Given the description of an element on the screen output the (x, y) to click on. 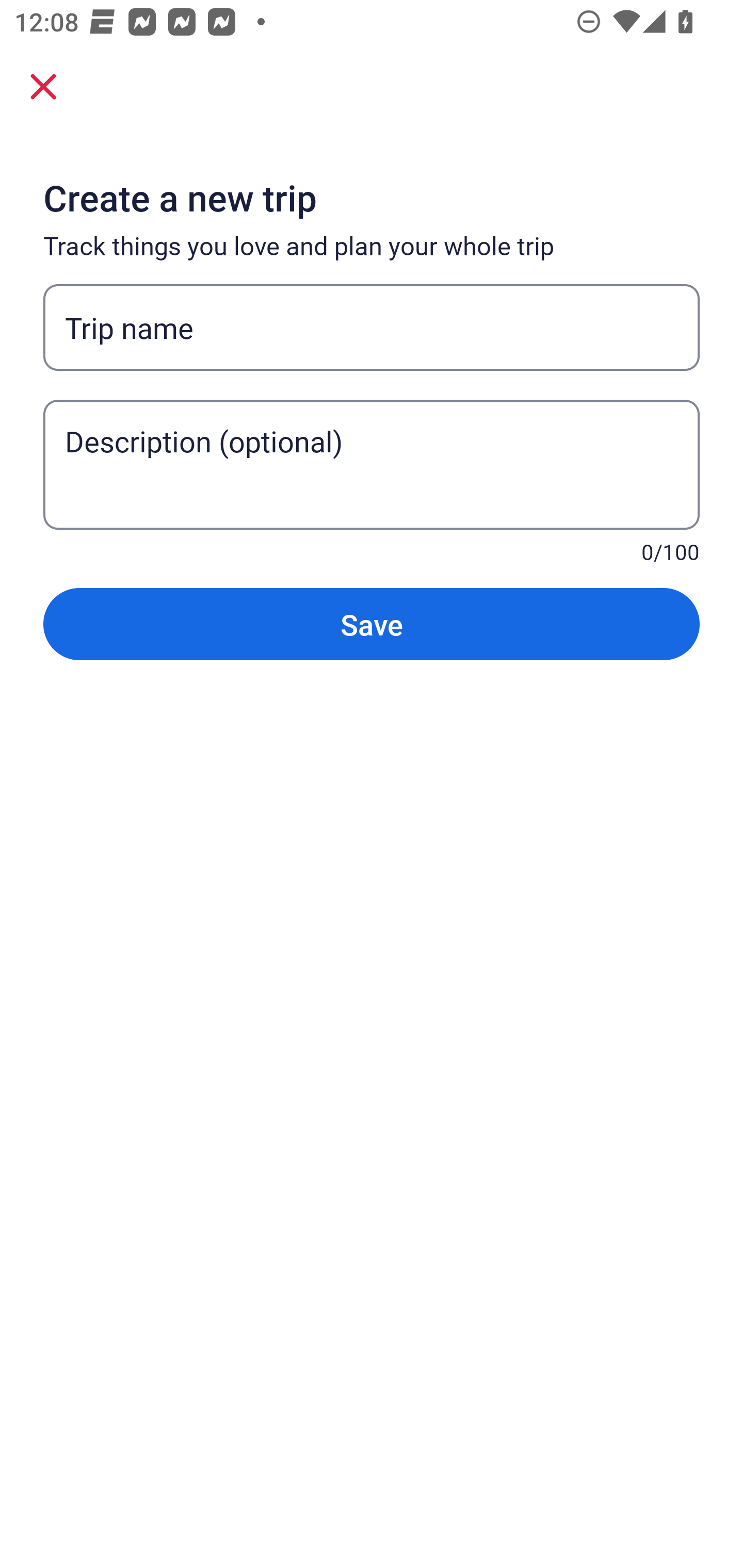
Close (43, 86)
Trip name (371, 327)
Save Button Save (371, 624)
